Given the description of an element on the screen output the (x, y) to click on. 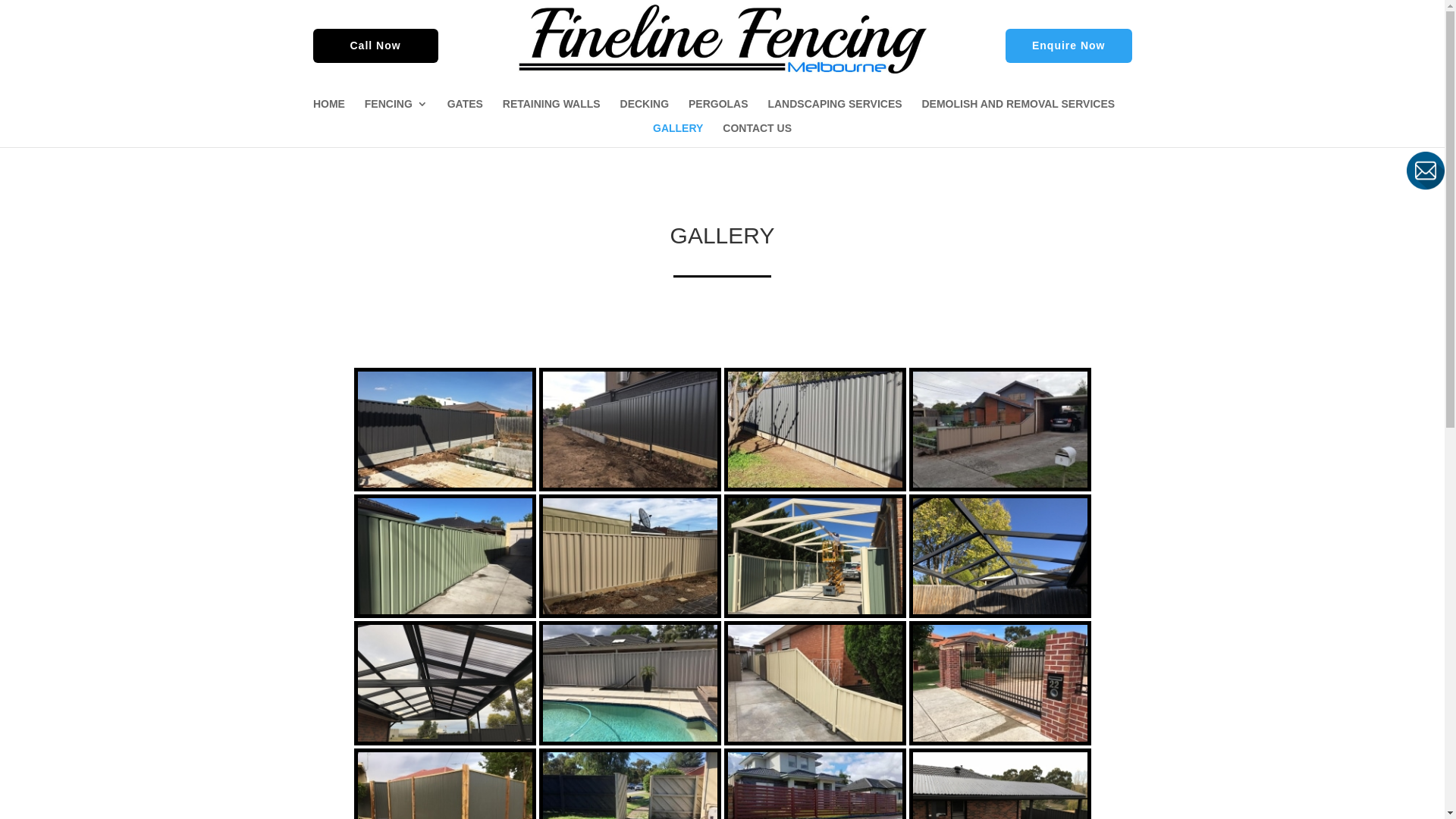
colorbond (2) Element type: hover (629, 429)
colorbond (6) Element type: hover (629, 556)
GALLERY Element type: text (677, 134)
FENCING Element type: text (395, 110)
Webp.net-resizeimage (12)-min Element type: hover (999, 556)
Webp.net-resizeimage (11)-min Element type: hover (814, 556)
PERGOLAS Element type: text (718, 110)
RETAINING WALLS Element type: text (551, 110)
DECKING Element type: text (644, 110)
Webp.net-resizeimage (13)-min Element type: hover (444, 682)
Enquire Now Element type: text (1068, 45)
LANDSCAPING SERVICES Element type: text (834, 110)
CONTACT US Element type: text (756, 134)
colorbond (4) Element type: hover (999, 429)
font fencs8 Element type: hover (999, 682)
DEMOLISH AND REMOVAL SERVICES Element type: text (1017, 110)
colorbond (7) Element type: hover (629, 682)
colorbond Element type: hover (444, 429)
colorbond (9) Element type: hover (814, 682)
Call Now Element type: text (375, 45)
colorbond (3) Element type: hover (814, 429)
colorbond (5) Element type: hover (444, 556)
GATES Element type: text (465, 110)
HOME Element type: text (329, 110)
